Given the description of an element on the screen output the (x, y) to click on. 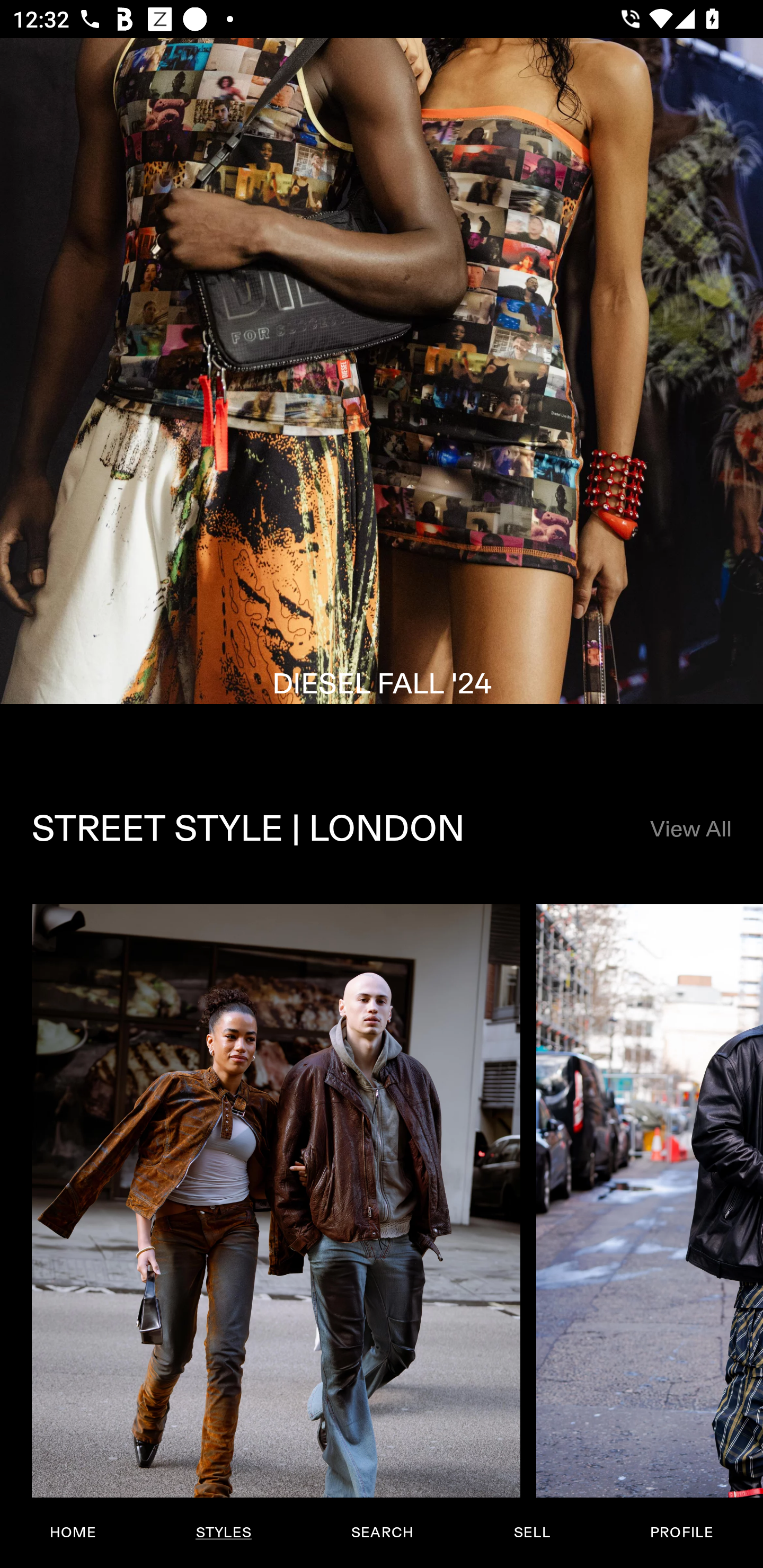
FIRST LOOKS DIESEL FALL '24 (381, 395)
View All (690, 830)
HOME (72, 1532)
STYLES (222, 1532)
SEARCH (381, 1532)
SELL (531, 1532)
PROFILE (681, 1532)
